Given the description of an element on the screen output the (x, y) to click on. 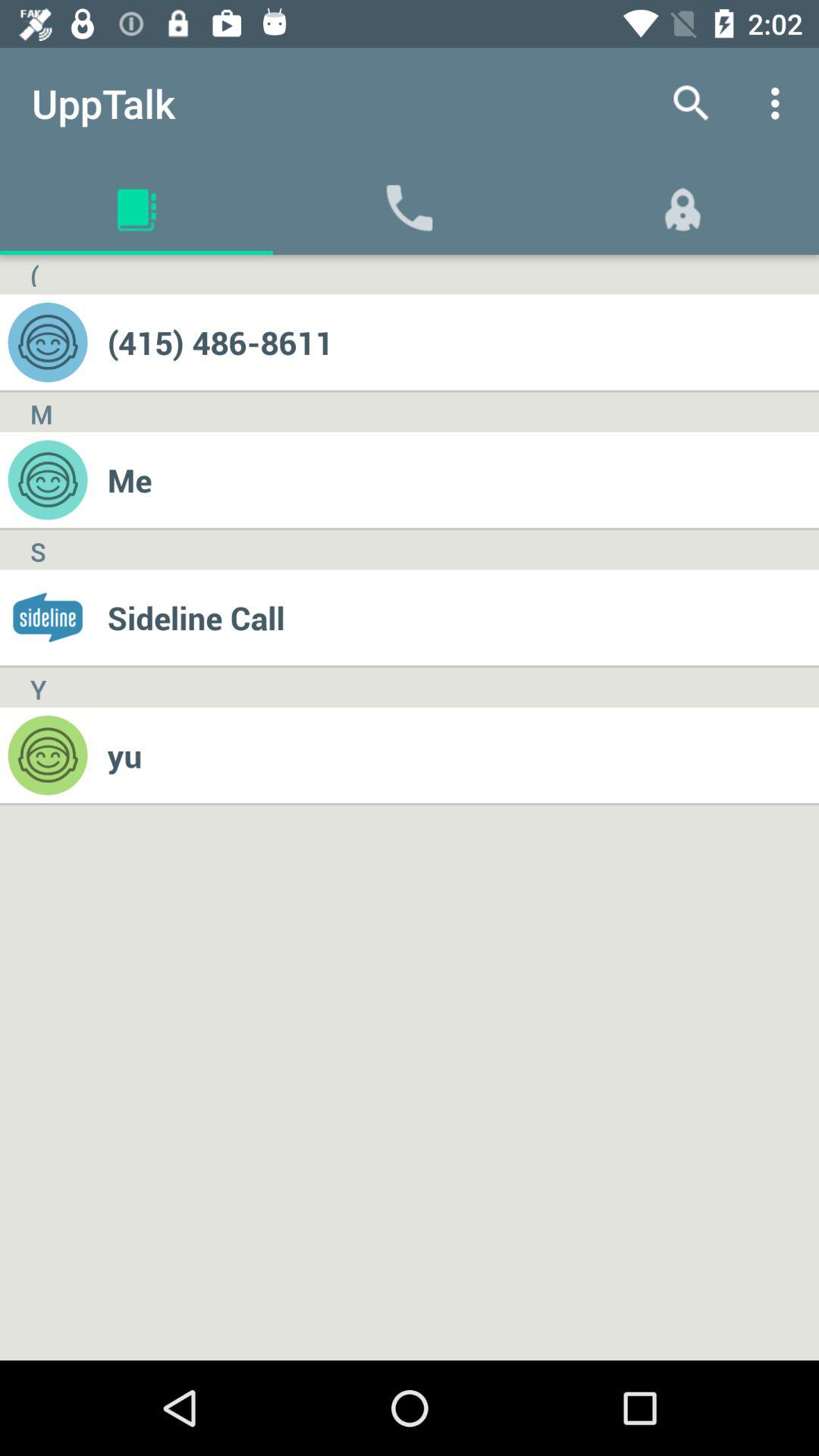
click the y (38, 687)
